Given the description of an element on the screen output the (x, y) to click on. 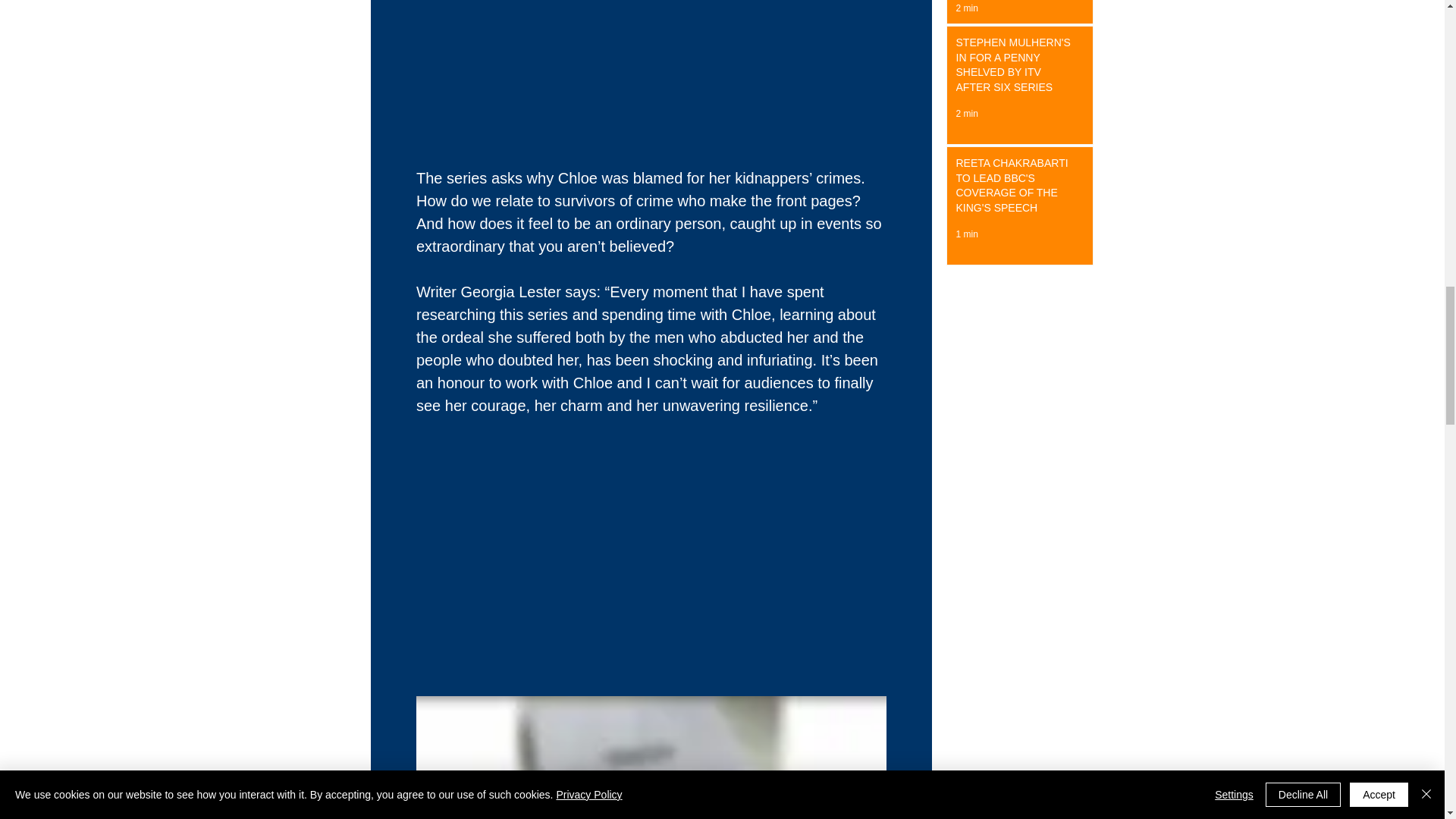
1 min (965, 234)
2 min (965, 113)
2 min (965, 8)
